Given the description of an element on the screen output the (x, y) to click on. 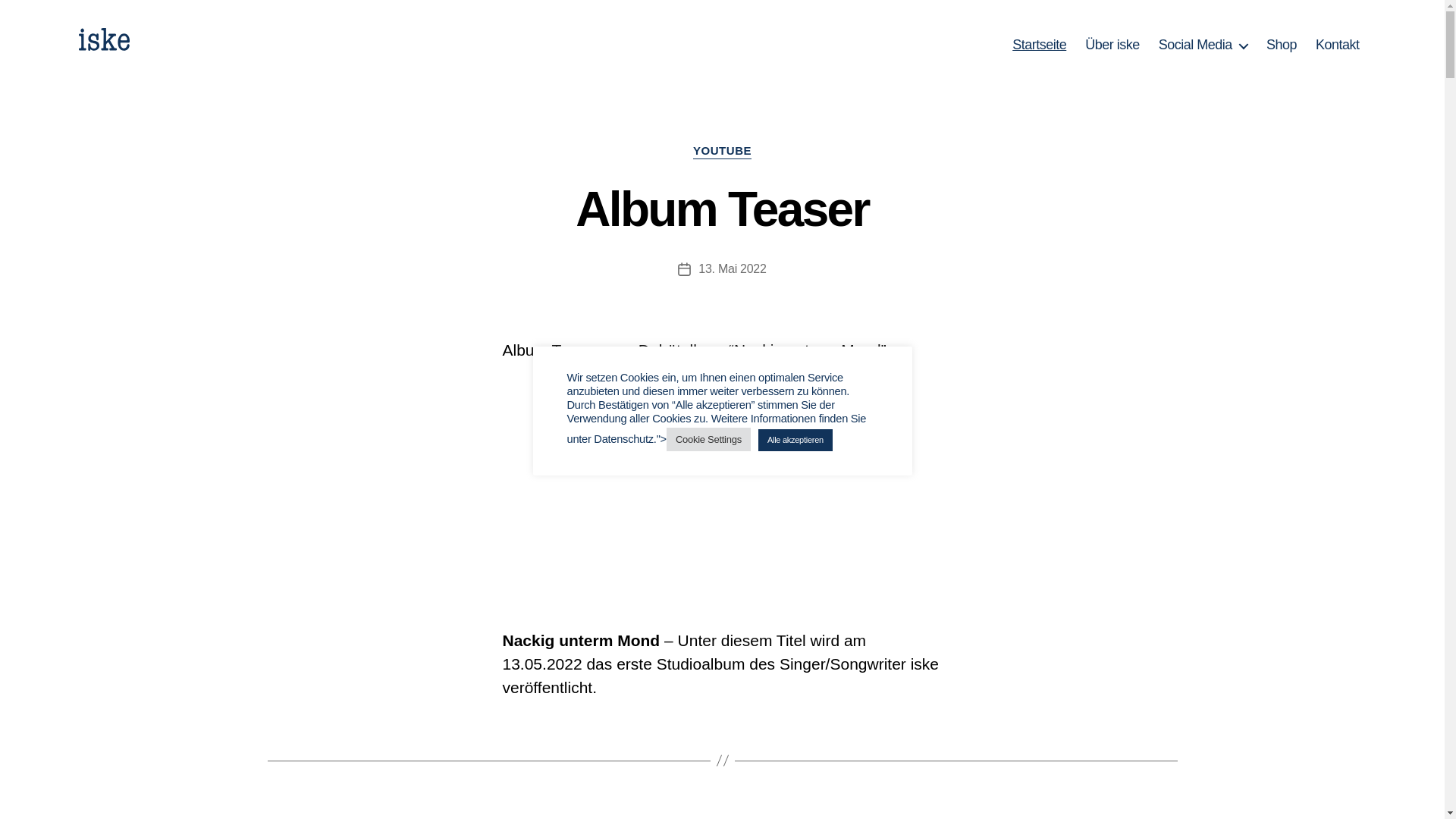
Social Media Element type: text (1202, 45)
YouTube player Element type: hover (721, 485)
Alle akzeptieren Element type: text (795, 440)
Cookie Settings Element type: text (708, 439)
Shop Element type: text (1281, 45)
YOUTUBE Element type: text (722, 151)
Kontakt Element type: text (1337, 45)
Startseite Element type: text (1039, 45)
13. Mai 2022 Element type: text (731, 268)
Album Teaser Element type: text (722, 209)
